Given the description of an element on the screen output the (x, y) to click on. 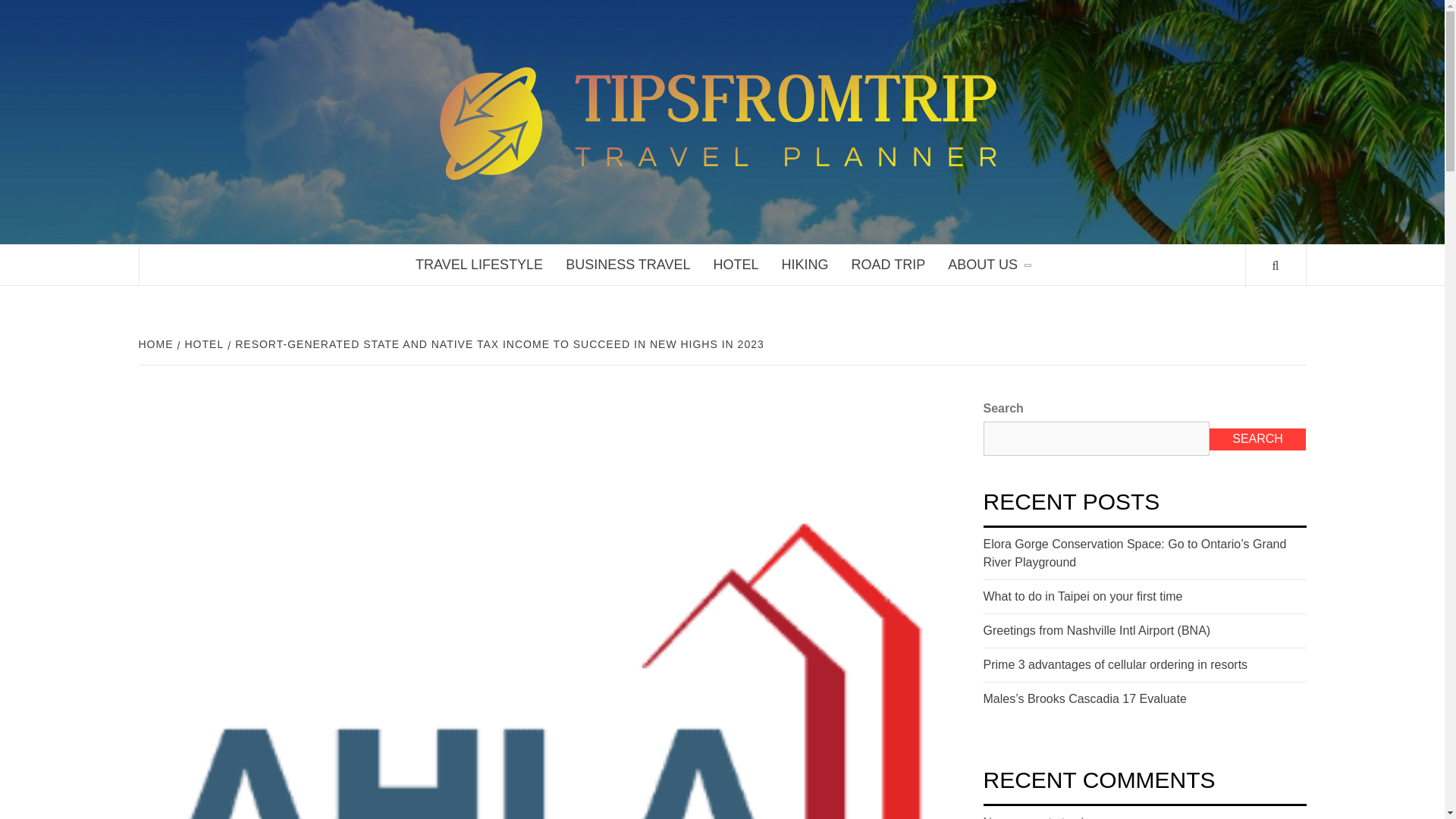
HOTEL (202, 344)
HOTEL (735, 264)
ABOUT US (988, 264)
ROAD TRIP (888, 264)
HIKING (805, 264)
TRAVEL LIFESTYLE (479, 264)
FKMIE.COM (1118, 80)
BUSINESS TRAVEL (627, 264)
HOME (157, 344)
